Given the description of an element on the screen output the (x, y) to click on. 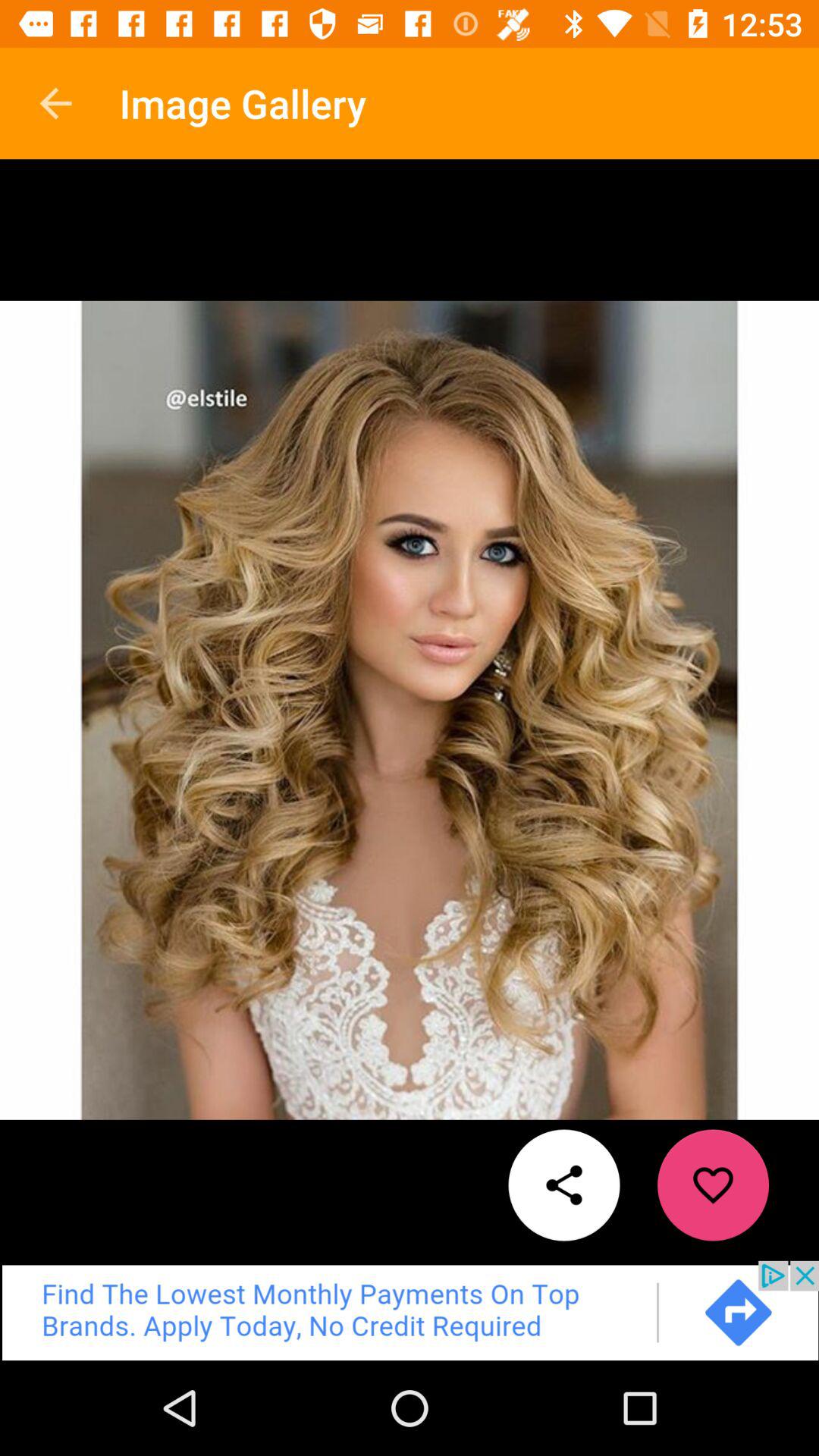
share the article (563, 1185)
